Given the description of an element on the screen output the (x, y) to click on. 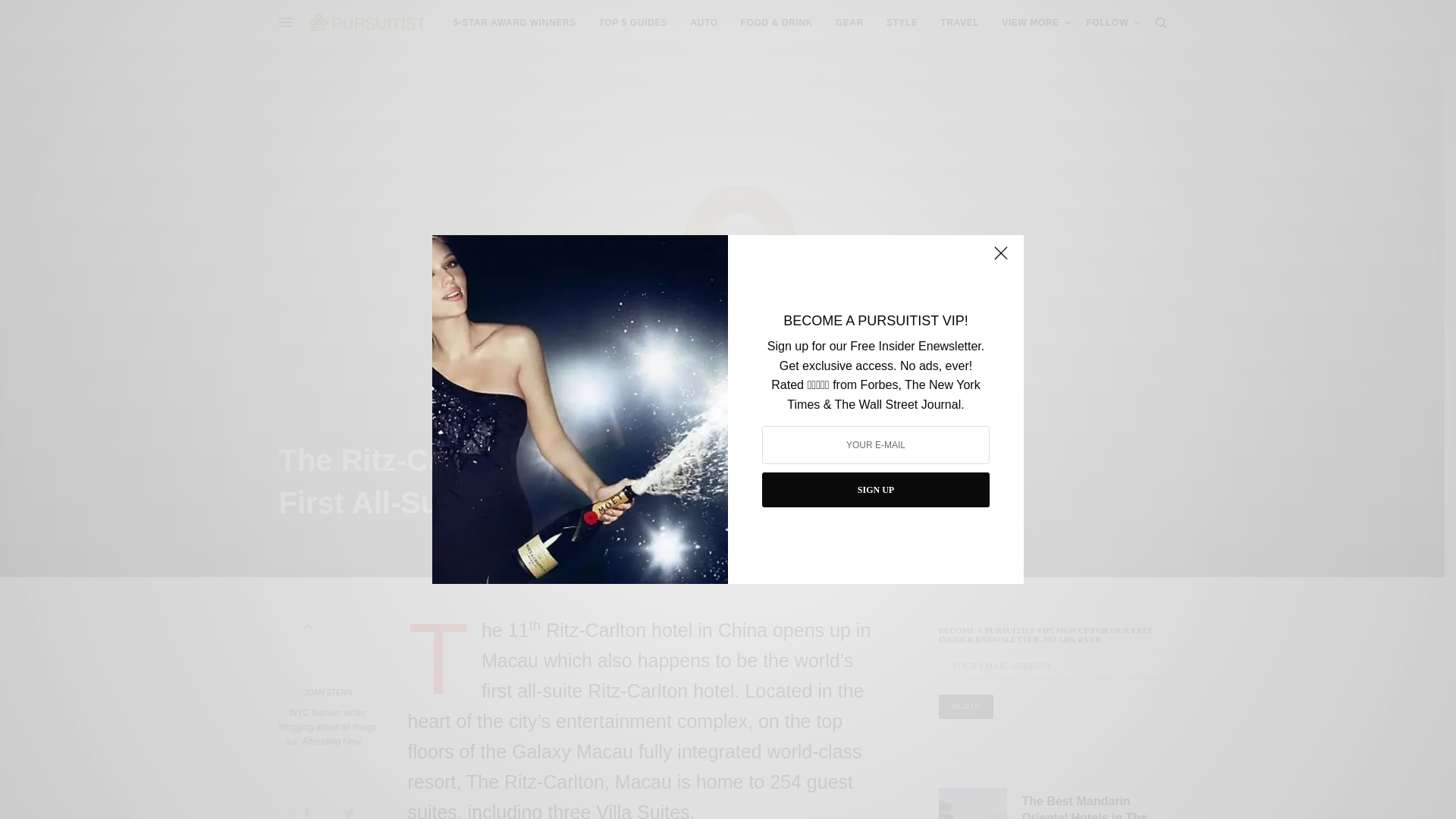
VIEW MORE (1035, 22)
5-Star Pursuits (514, 22)
TOP 5 GUIDES (633, 22)
FOLLOW (1113, 22)
5-STAR AWARD WINNERS (514, 22)
Sign up (966, 706)
JOAN STERN (328, 692)
SIGN UP (875, 489)
The Best Mandarin Oriental Hotels in The World (1094, 806)
Pursuitist (366, 22)
